Given the description of an element on the screen output the (x, y) to click on. 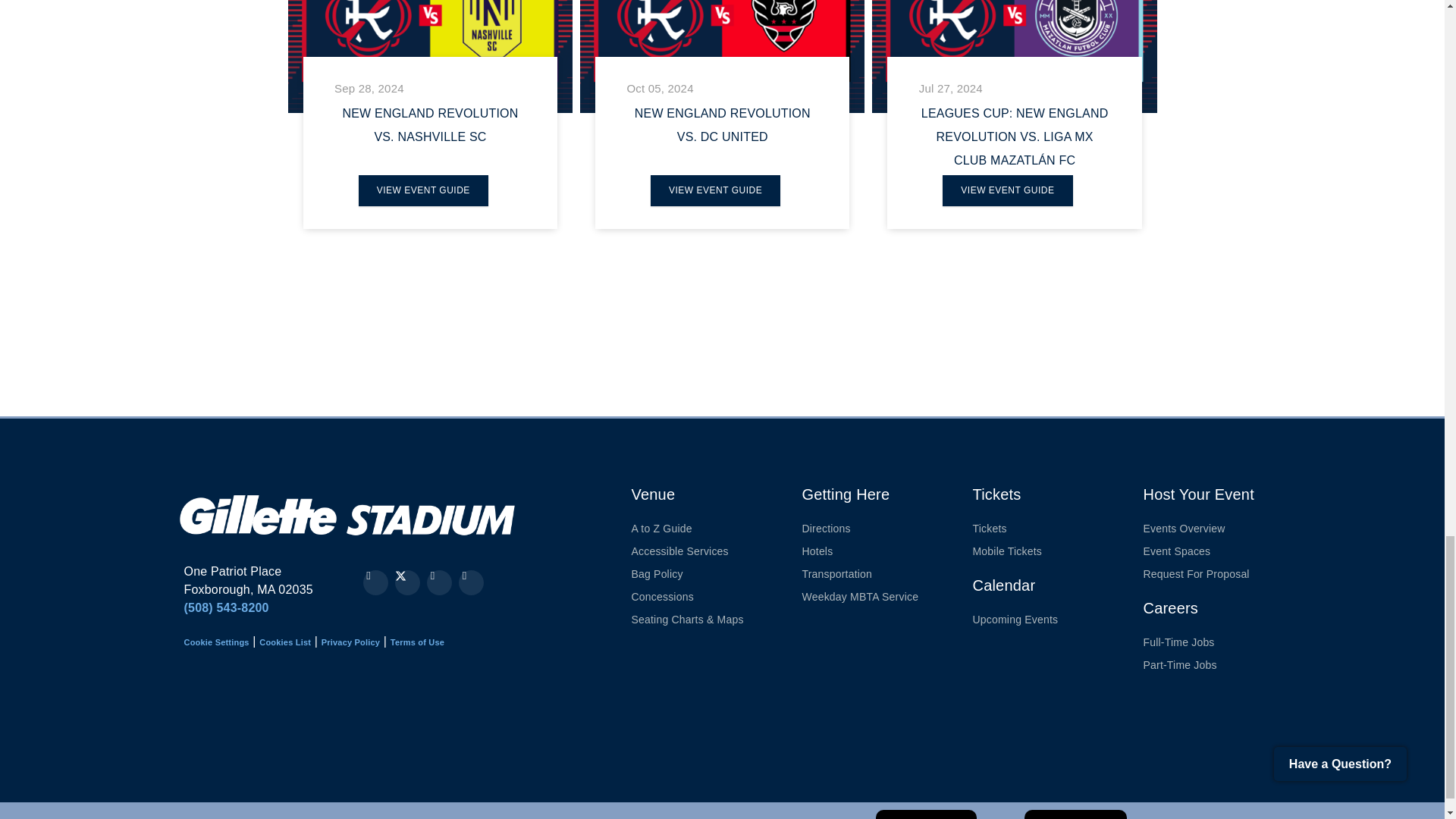
3rd party ad content (238, 725)
3rd party ad content (604, 346)
3rd party ad content (751, 725)
3rd party ad content (579, 725)
3rd party ad content (1002, 346)
3rd party ad content (409, 725)
